Given the description of an element on the screen output the (x, y) to click on. 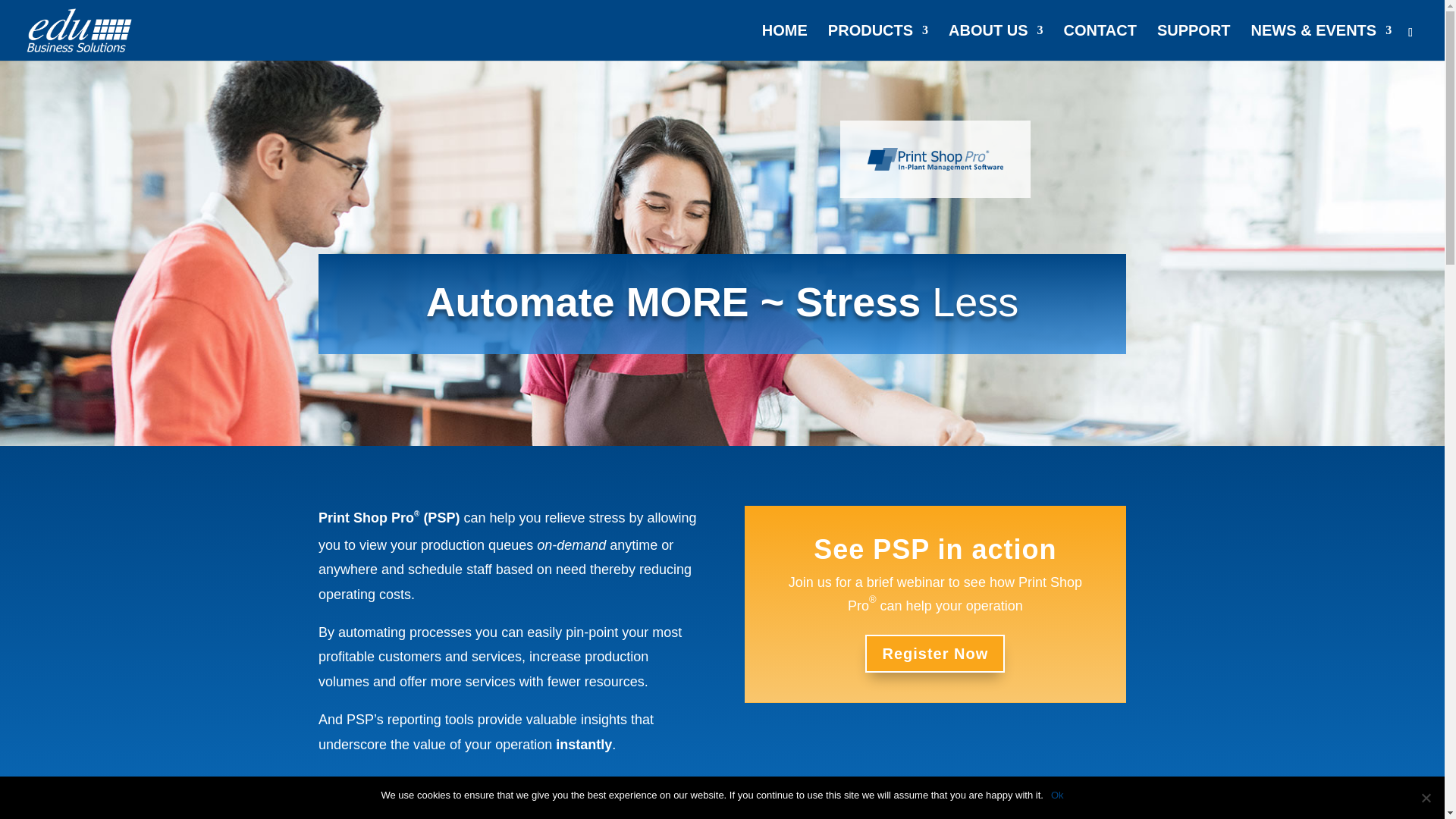
No (1425, 797)
ABOUT US (995, 42)
PSP-20190125-Logo-Blue (935, 159)
CONTACT (1100, 42)
SUPPORT (1193, 42)
HOME (784, 42)
PRODUCTS (878, 42)
